Given the description of an element on the screen output the (x, y) to click on. 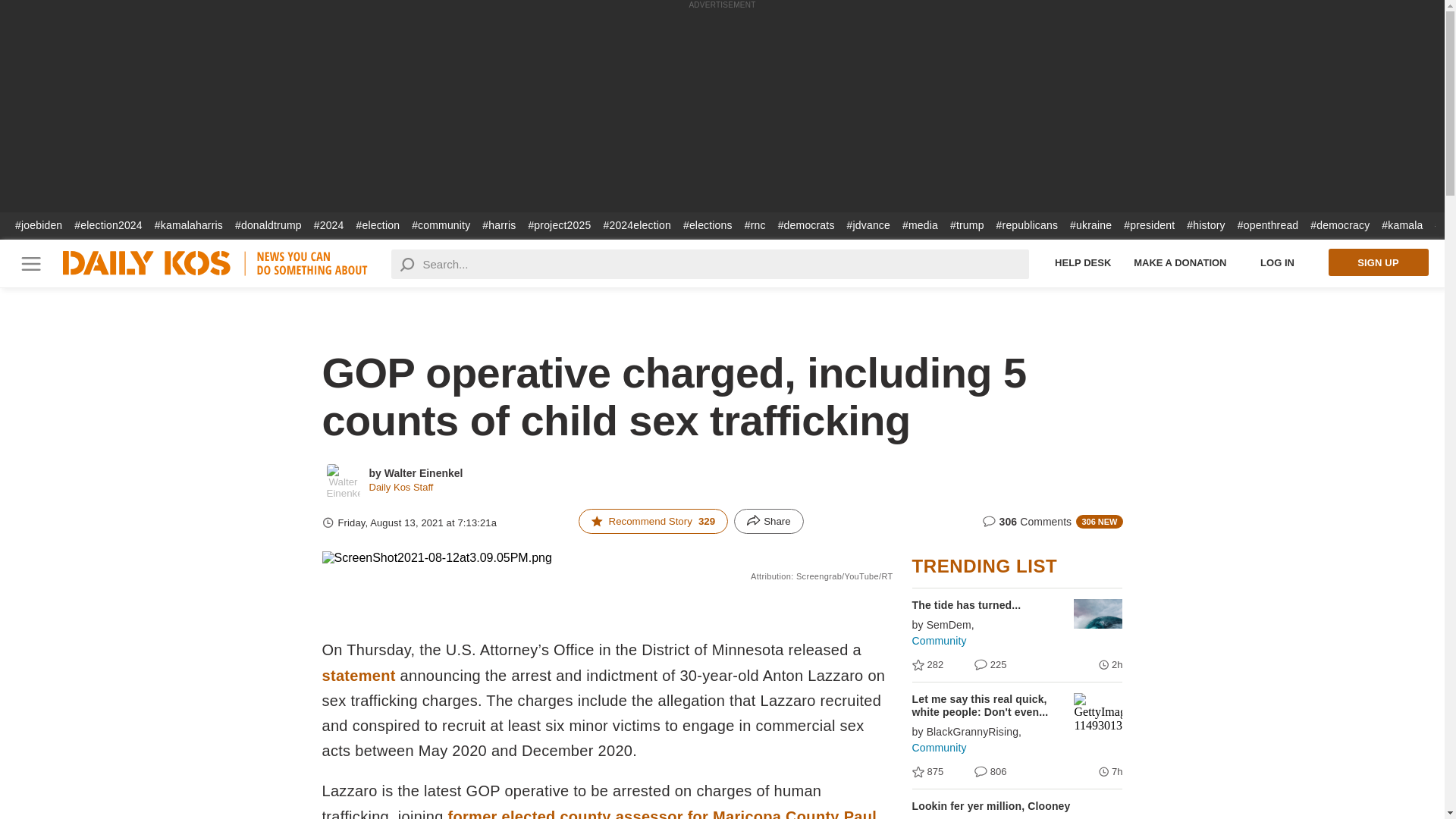
Make a Donation (1179, 262)
MAKE A DONATION (1179, 262)
Help Desk (1082, 262)
